Given the description of an element on the screen output the (x, y) to click on. 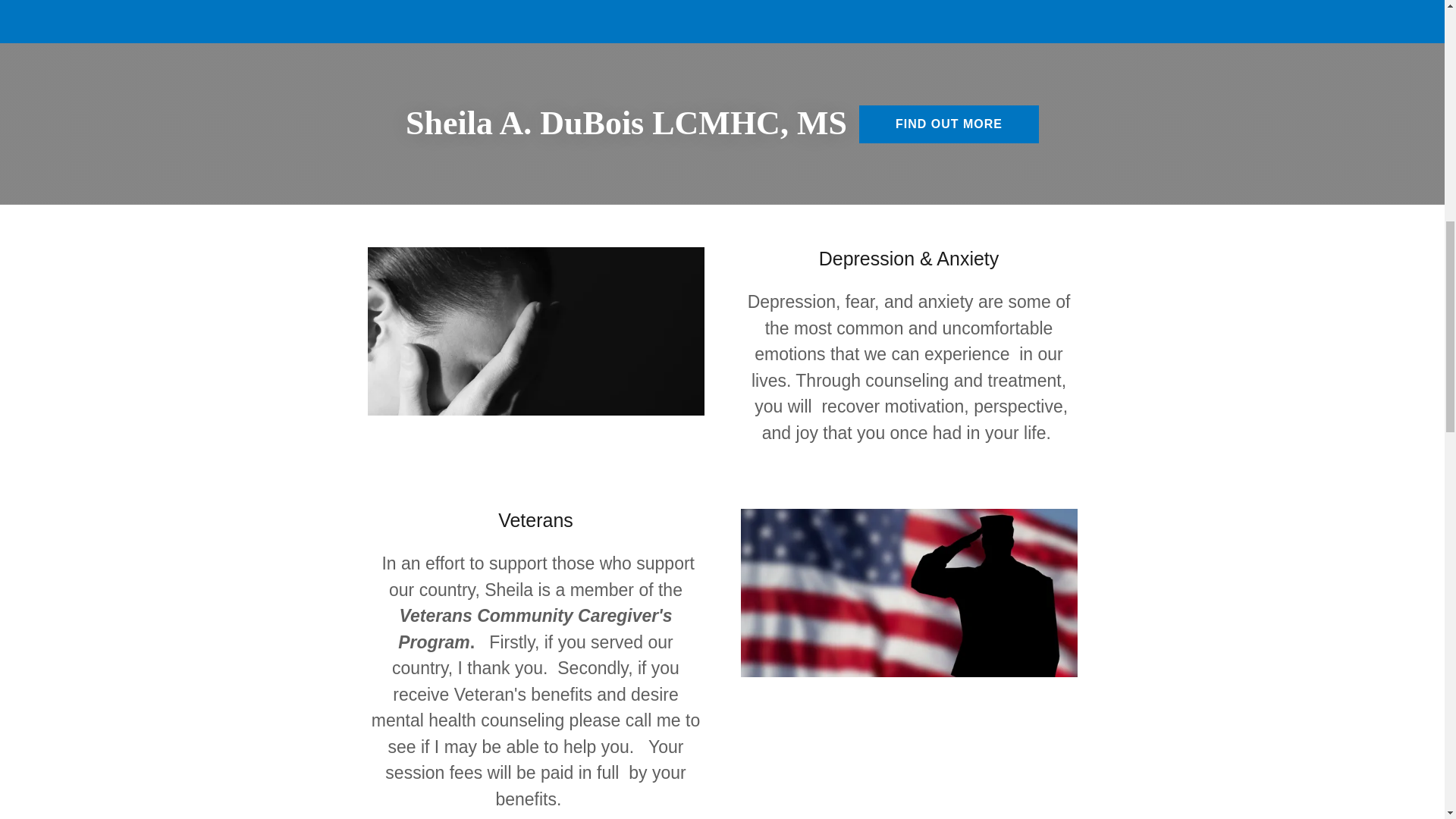
FIND OUT MORE (949, 124)
